Given the description of an element on the screen output the (x, y) to click on. 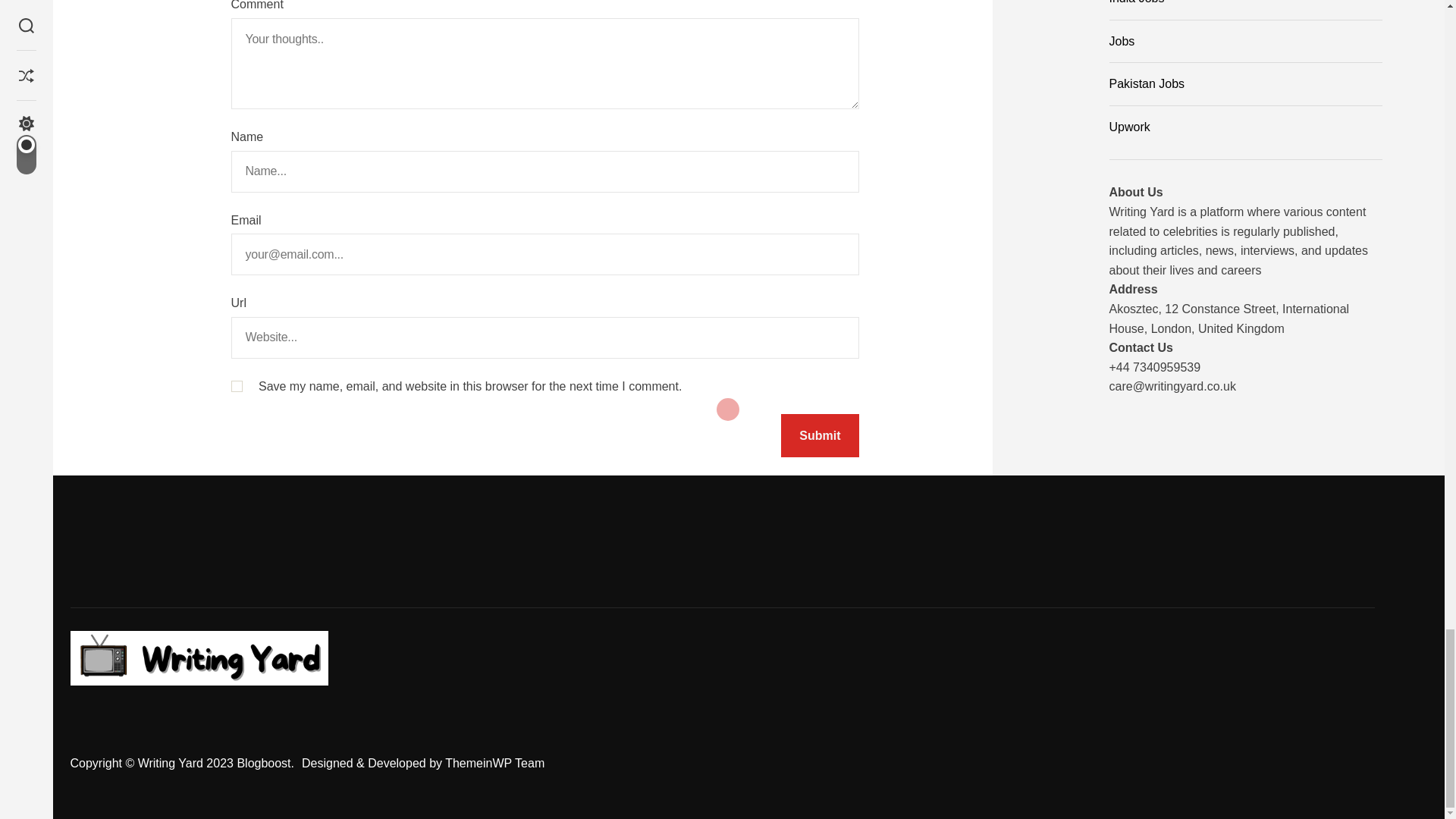
Submit (819, 435)
Submit (819, 435)
yes (235, 386)
